Given the description of an element on the screen output the (x, y) to click on. 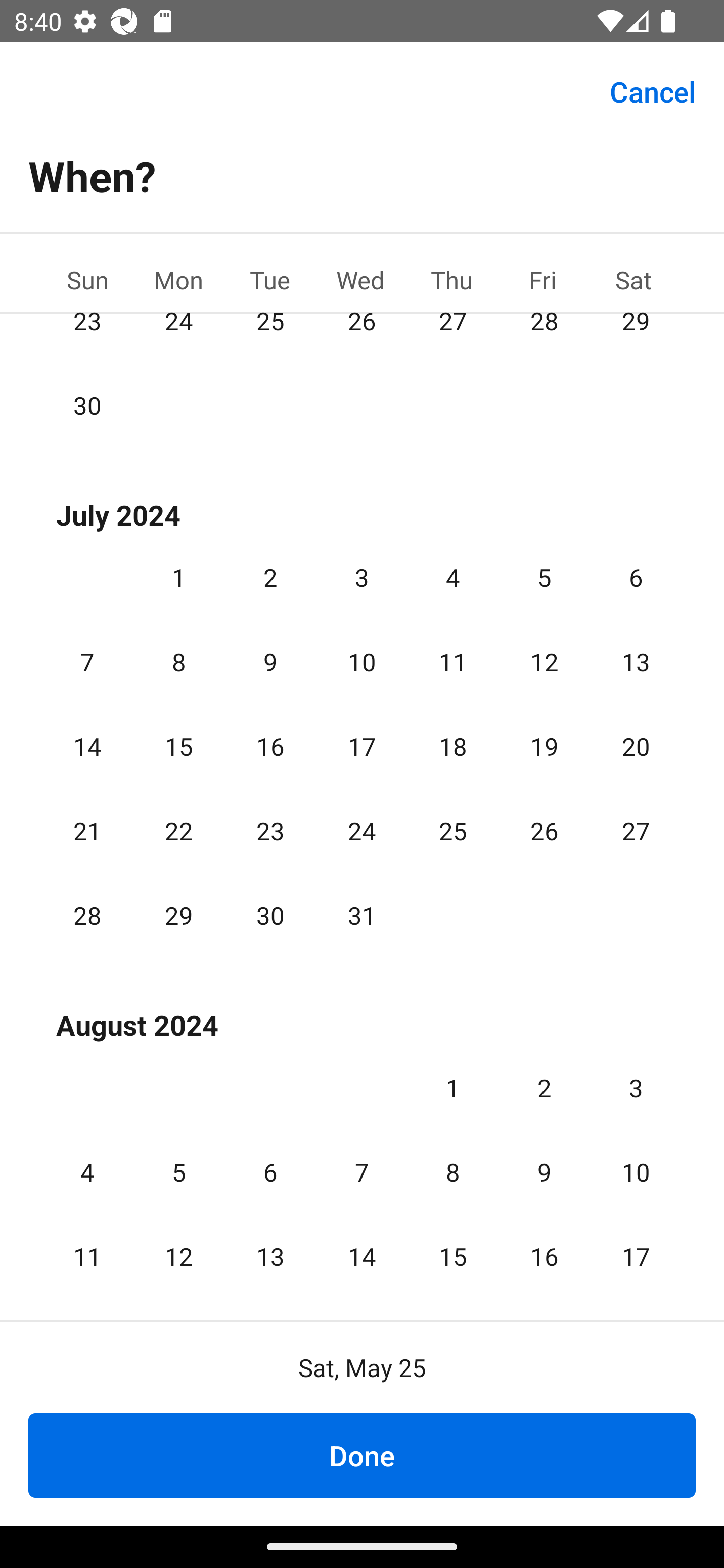
Cancel (652, 90)
Done (361, 1454)
